Given the description of an element on the screen output the (x, y) to click on. 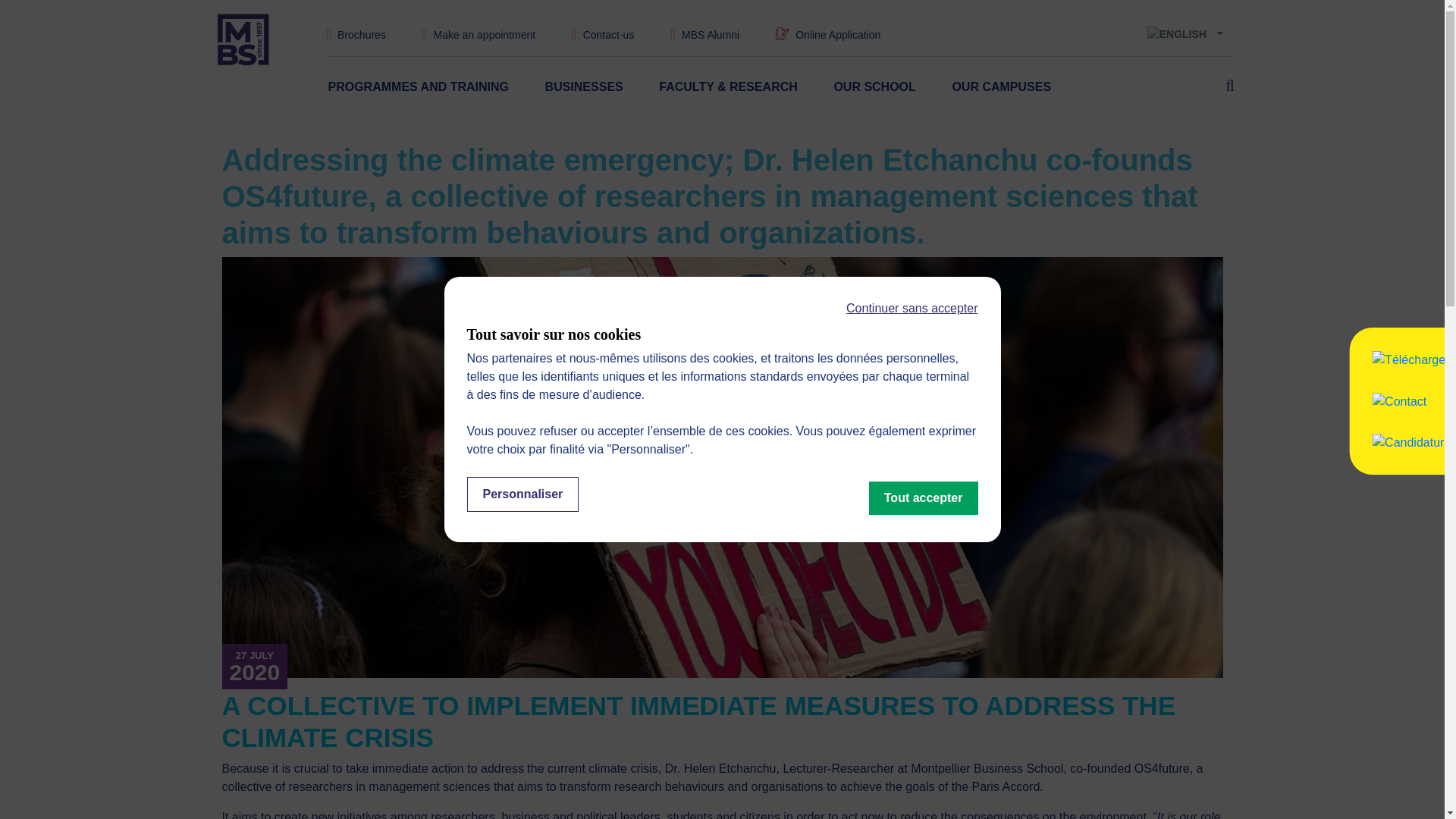
PROGRAMMES AND TRAINING (417, 86)
BUSINESSES (583, 86)
Go to the rendez-vous form (483, 35)
Go to MBS Alumni (710, 35)
Online Application (837, 35)
Brochures (361, 35)
Go to the contact form (608, 35)
Go to the brochures (361, 35)
Make an appointment (483, 35)
MBS Alumni (710, 35)
Contact-us (608, 35)
